Given the description of an element on the screen output the (x, y) to click on. 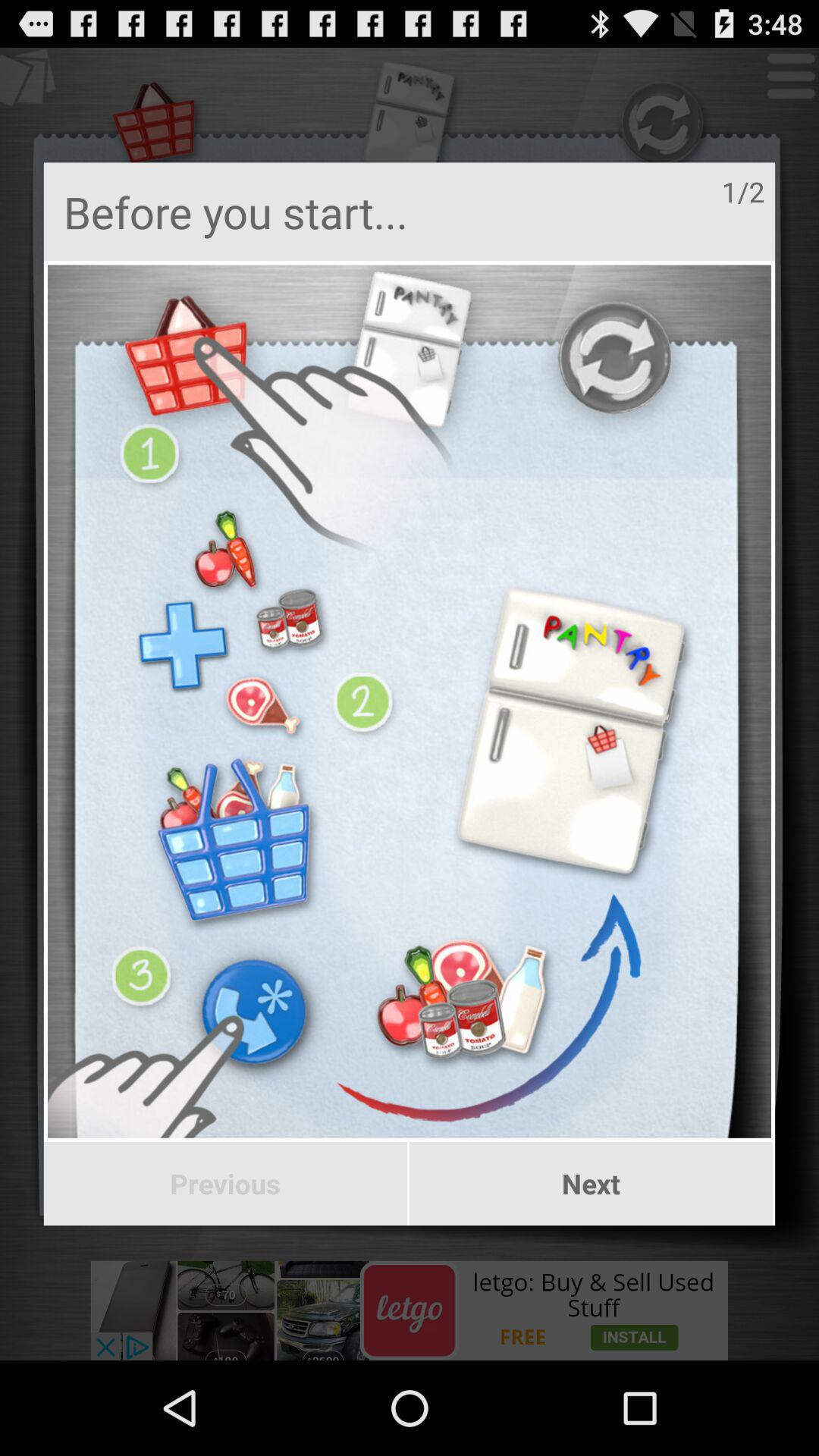
press the previous icon (225, 1183)
